Given the description of an element on the screen output the (x, y) to click on. 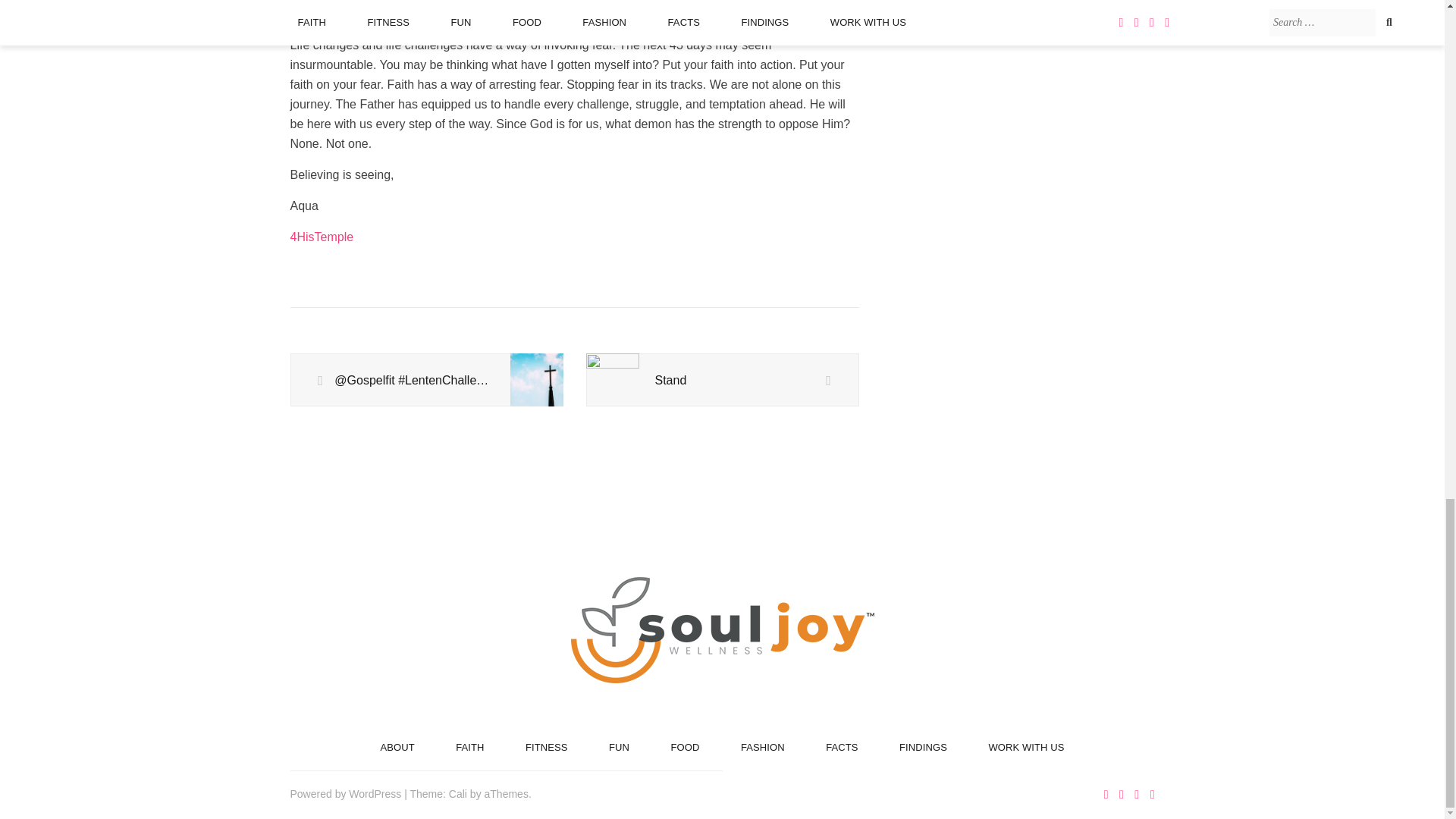
FB (321, 236)
4HisTemple (321, 236)
Stand (722, 380)
